Given the description of an element on the screen output the (x, y) to click on. 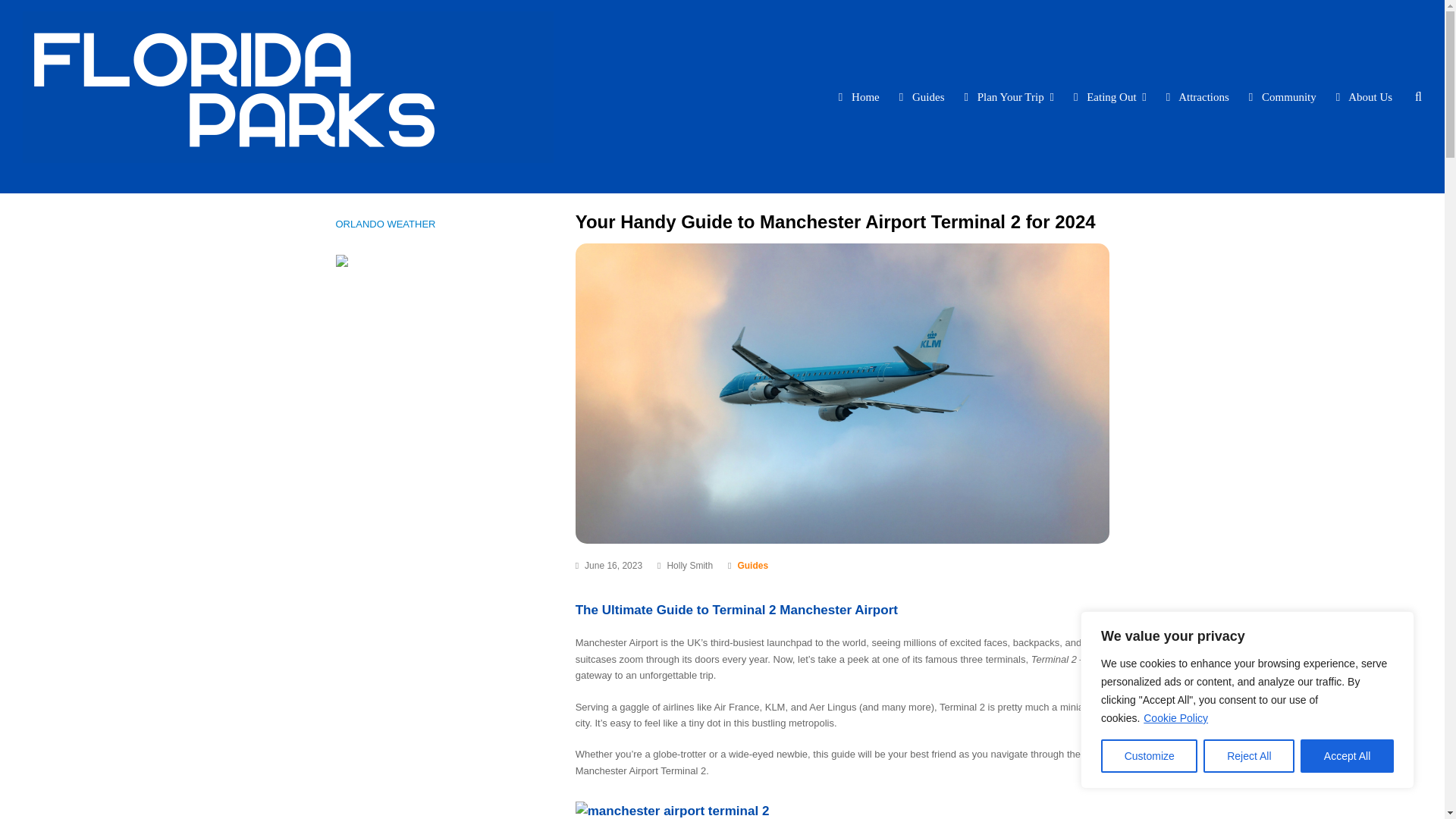
Cookie Policy (1175, 717)
Plan Your Trip (1009, 95)
Guides (752, 565)
Home (860, 95)
Attractions (1198, 95)
Accept All (1346, 756)
Community (1283, 95)
Posts by Holly Smith (689, 565)
Reject All (1249, 756)
Guides (752, 565)
